Given the description of an element on the screen output the (x, y) to click on. 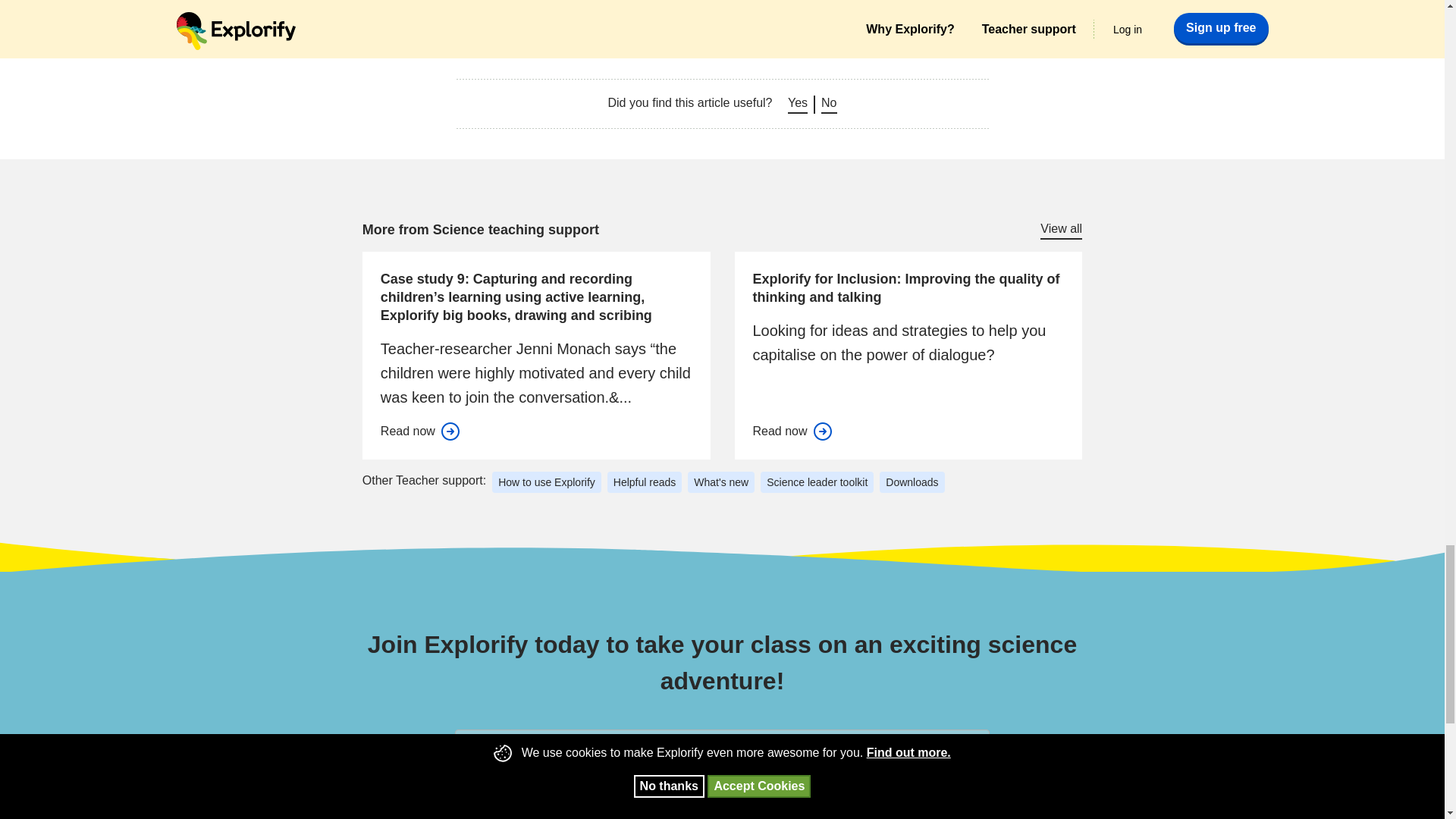
Sign up free (935, 750)
What's new (720, 482)
Helpful reads (644, 482)
Yes (797, 103)
Read now (791, 431)
How to use Explorify (546, 482)
View all (1061, 229)
Read now (420, 431)
Science leader toolkit (816, 482)
Sign up free (935, 750)
Downloads (911, 482)
